Given the description of an element on the screen output the (x, y) to click on. 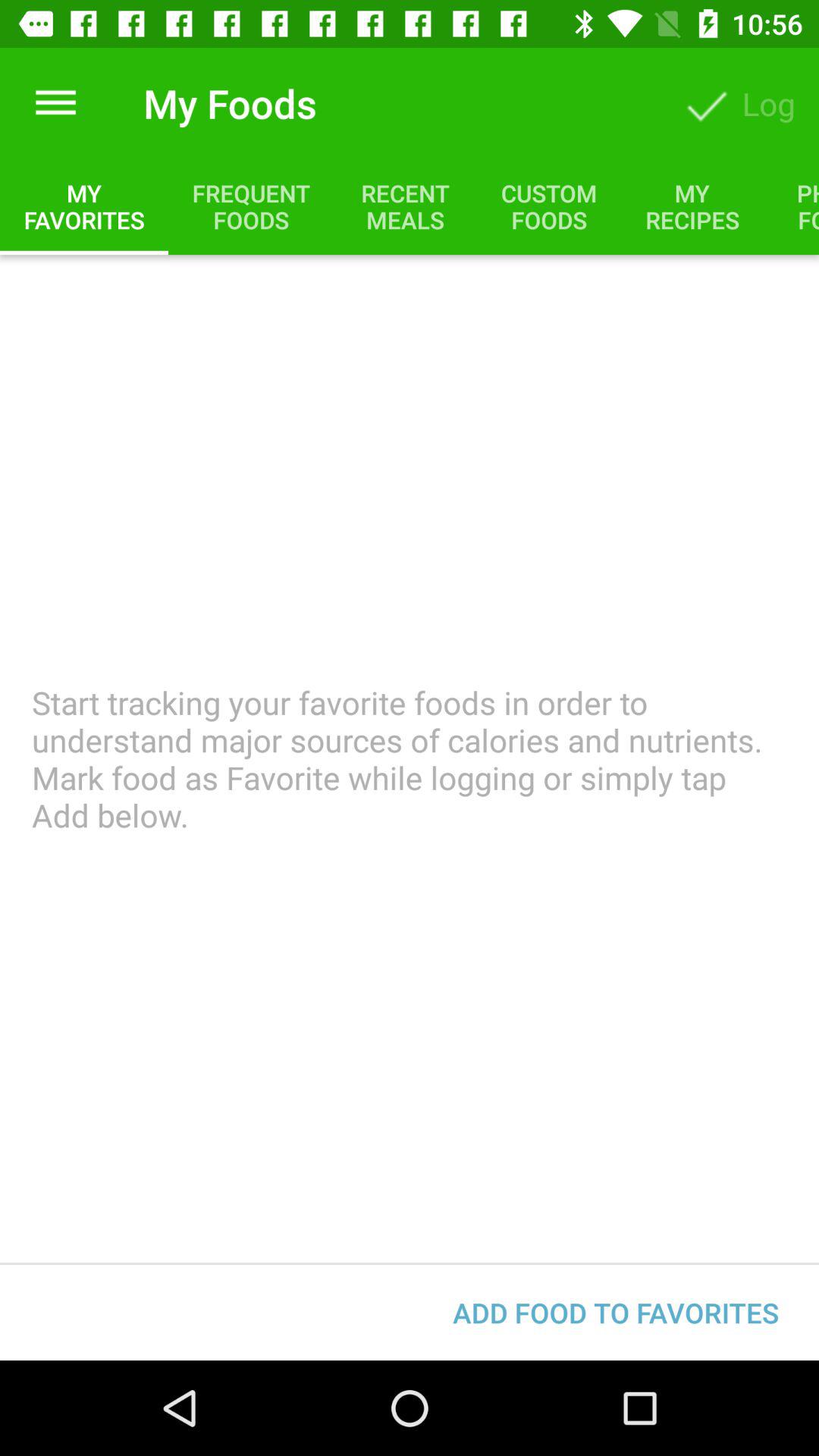
press the icon next to the my foods item (55, 103)
